Given the description of an element on the screen output the (x, y) to click on. 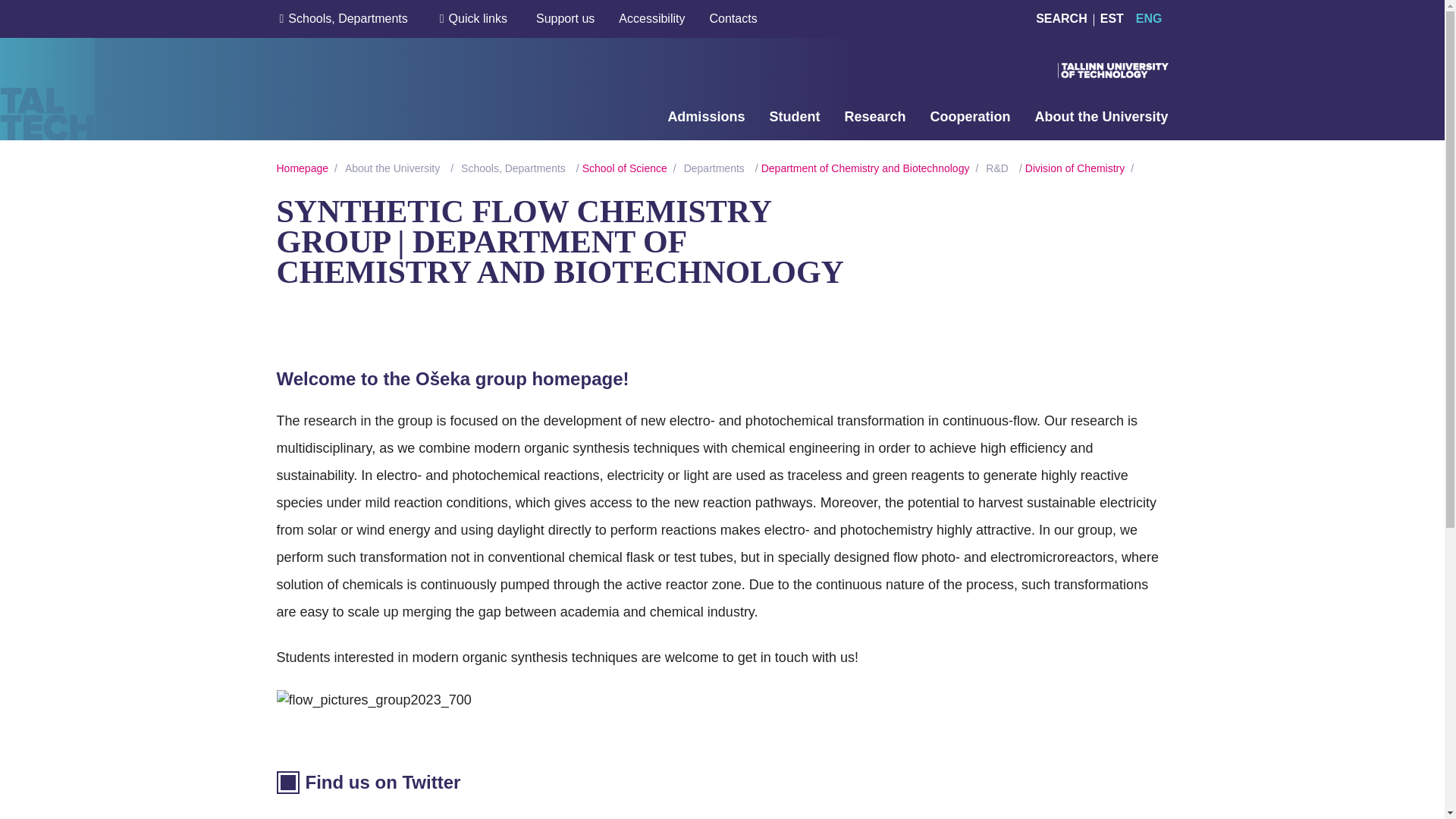
Research (874, 116)
About the University (392, 168)
Schools, Departments (513, 168)
Quick links (478, 18)
Support us (564, 18)
Student (793, 116)
Cooperation (970, 116)
Find us on Twitter (368, 782)
Departments (714, 168)
Contacts (733, 18)
